Given the description of an element on the screen output the (x, y) to click on. 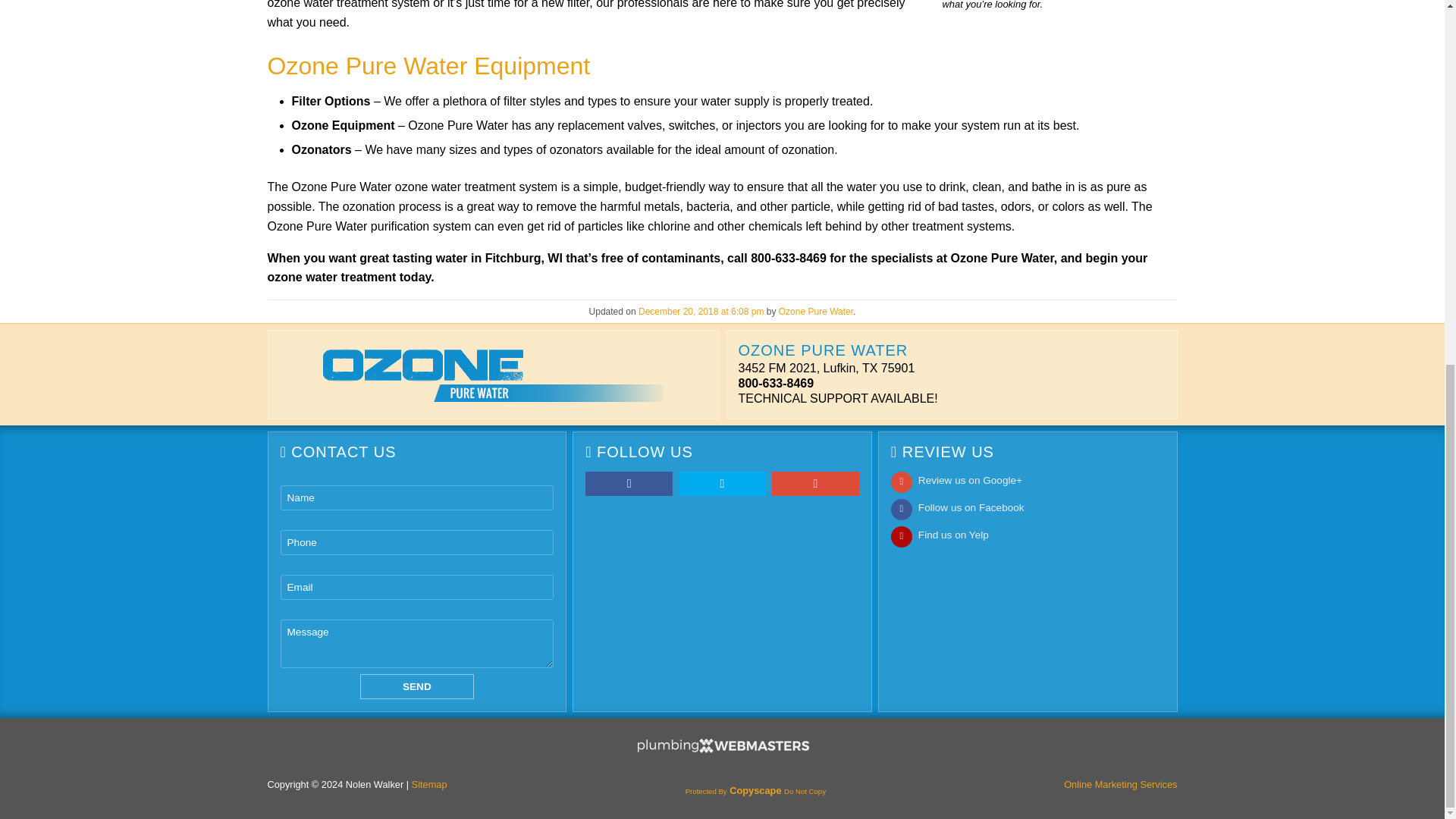
Send (416, 686)
8:31 PM (700, 311)
View all posts by Ozone Pure Water (815, 311)
